Given the description of an element on the screen output the (x, y) to click on. 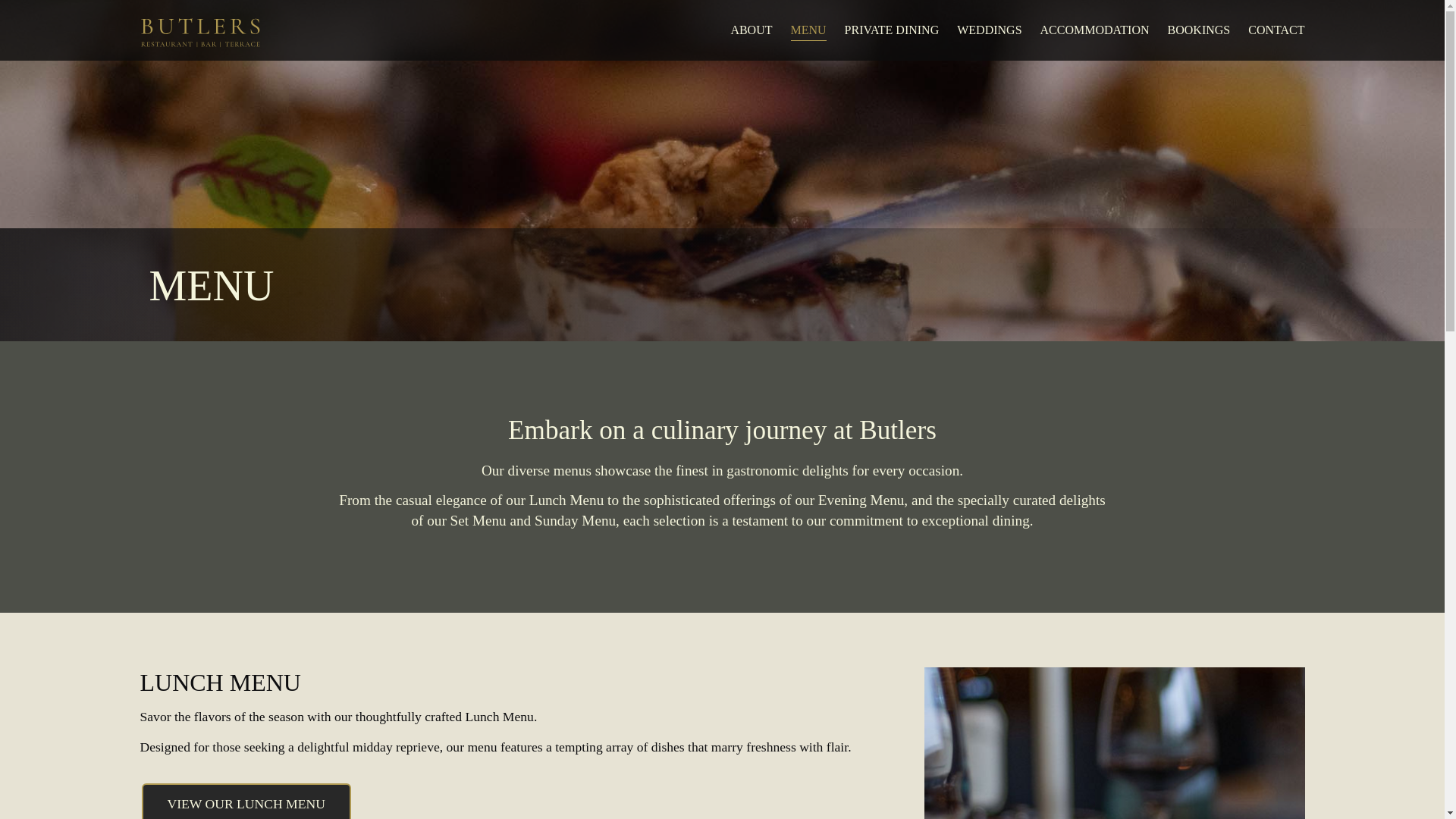
MENU (807, 29)
CONTACT (1275, 29)
VIEW OUR LUNCH MENU (245, 800)
PRIVATE DINING (891, 29)
WEDDINGS (989, 29)
ACCOMMODATION (1095, 29)
BOOKINGS (1198, 29)
ABOUT (750, 29)
